Given the description of an element on the screen output the (x, y) to click on. 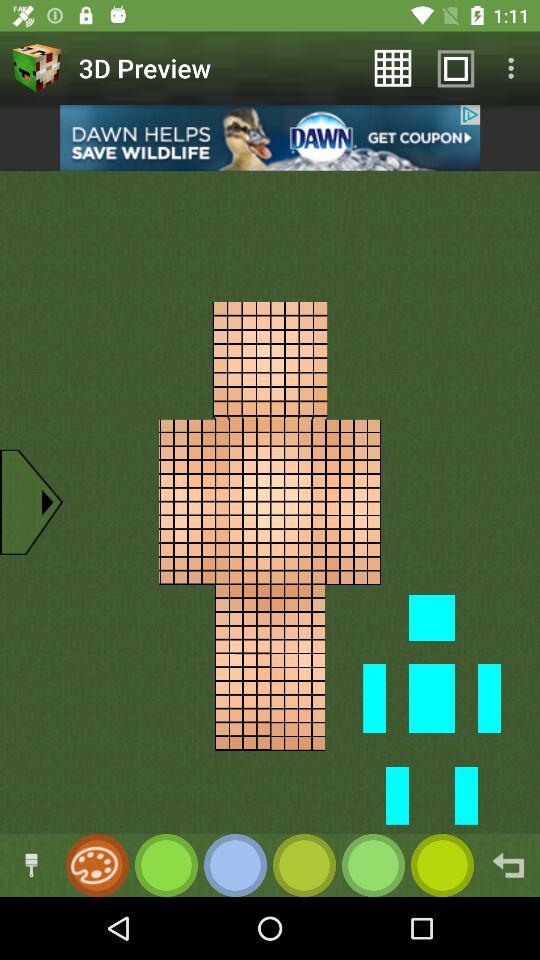
change color (373, 865)
